Given the description of an element on the screen output the (x, y) to click on. 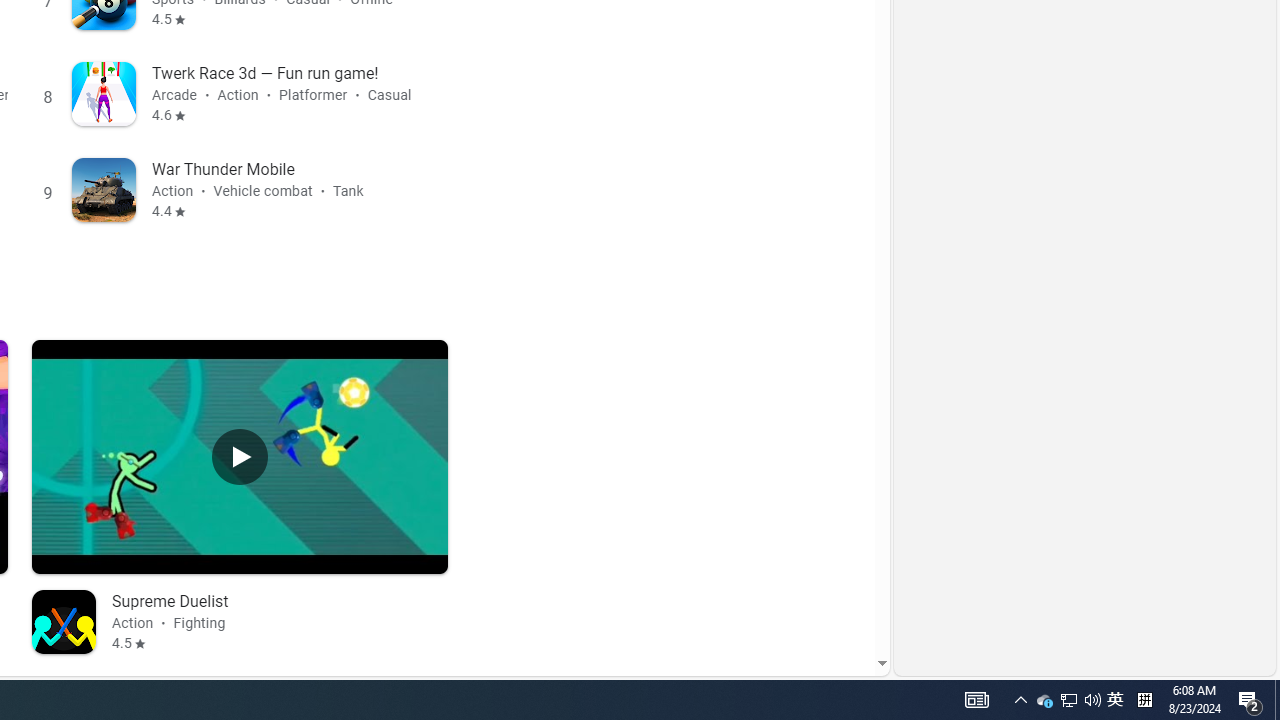
Play Supreme Duelist (239, 456)
